Given the description of an element on the screen output the (x, y) to click on. 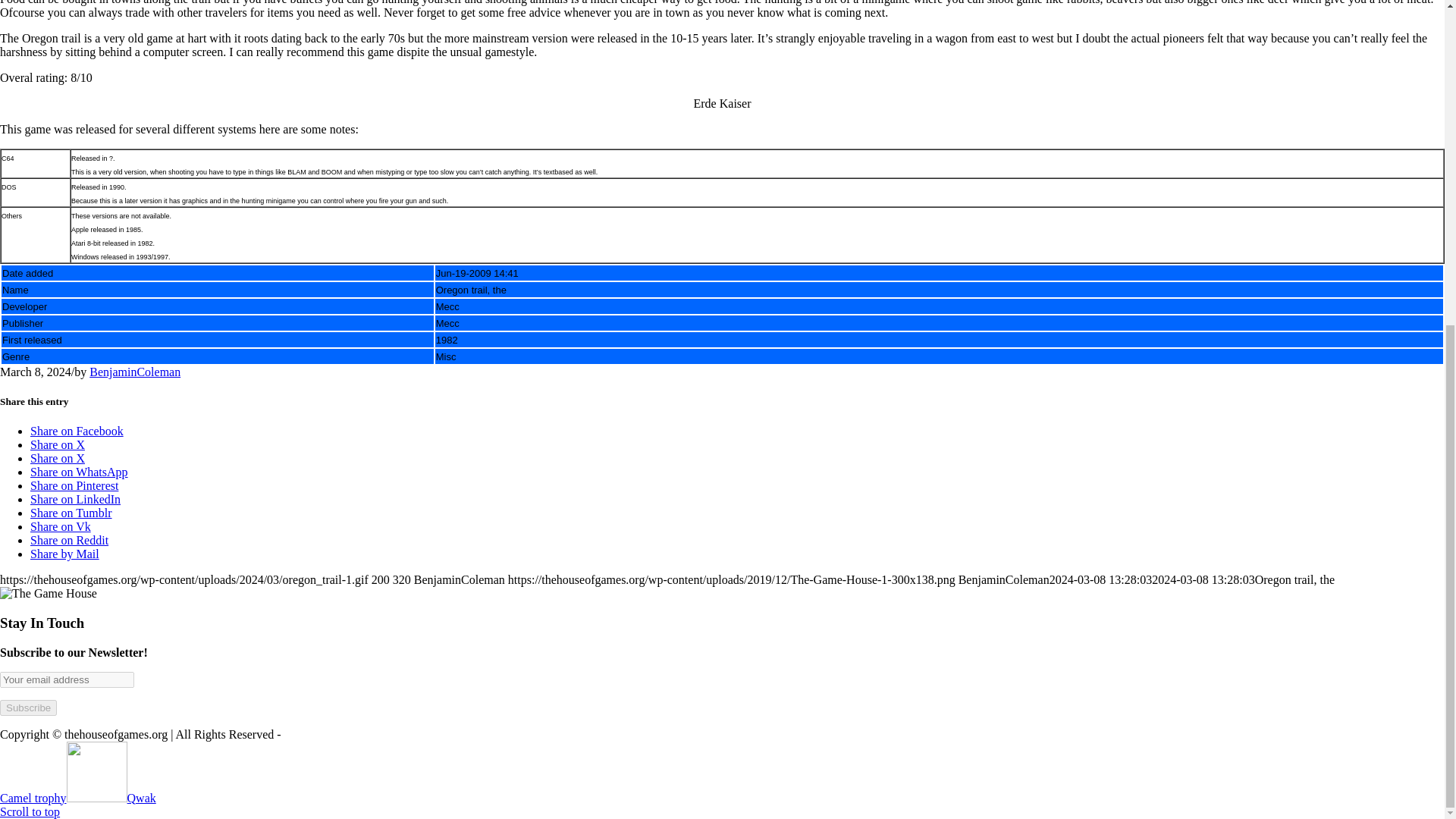
Share on Reddit (68, 540)
Share on X (57, 444)
Subscribe (28, 707)
Posts by BenjaminColeman (134, 371)
Camel trophy (64, 797)
Scroll to top (29, 811)
Share on Facebook (76, 431)
BenjaminColeman (134, 371)
Share on WhatsApp (79, 472)
Share on X (57, 458)
